Given the description of an element on the screen output the (x, y) to click on. 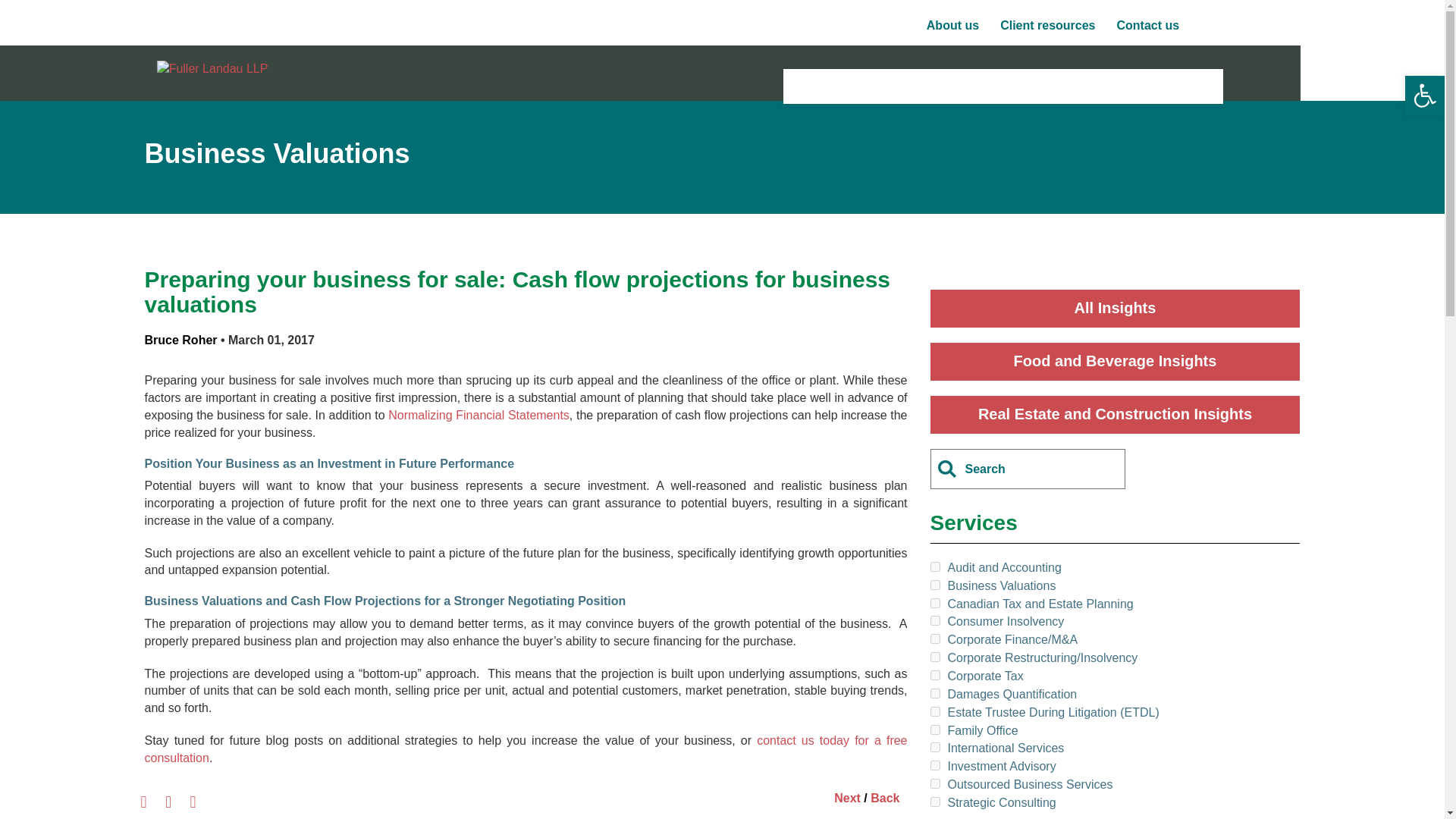
audit-and-accounting (934, 566)
corporate-tax (934, 675)
Search (25, 11)
canadian-tax-and-estate-planning (934, 603)
Accessibility Tools (1424, 95)
family-office (934, 729)
damages-quantification (934, 693)
international-services (934, 747)
corporate-finance-ma (934, 638)
strategic-consulting (934, 801)
